Given the description of an element on the screen output the (x, y) to click on. 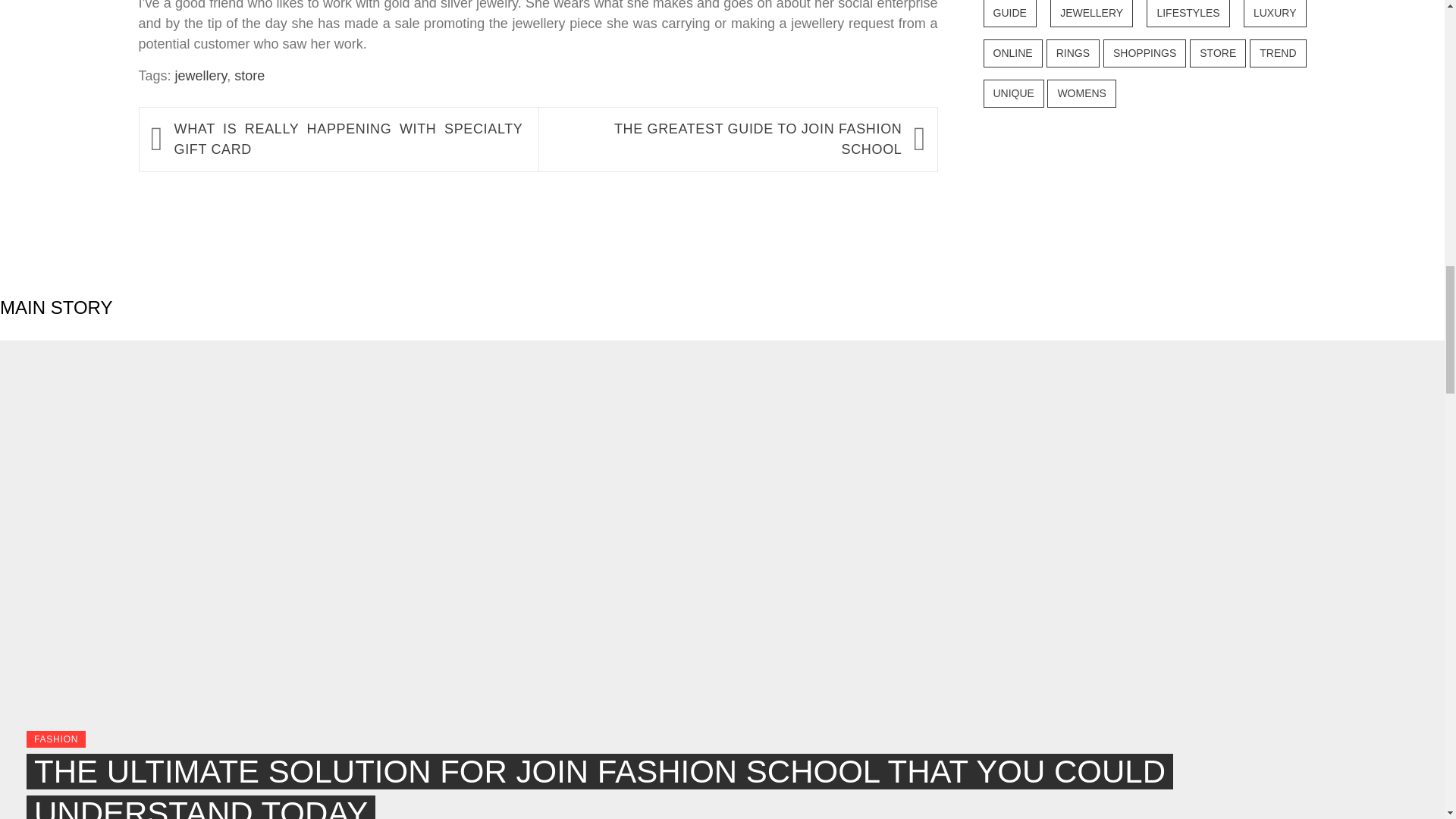
store (249, 75)
WHAT IS REALLY HAPPENING WITH SPECIALTY GIFT CARD (348, 138)
THE GREATEST GUIDE TO JOIN FASHION SCHOOL (726, 138)
jewellery (200, 75)
